Given the description of an element on the screen output the (x, y) to click on. 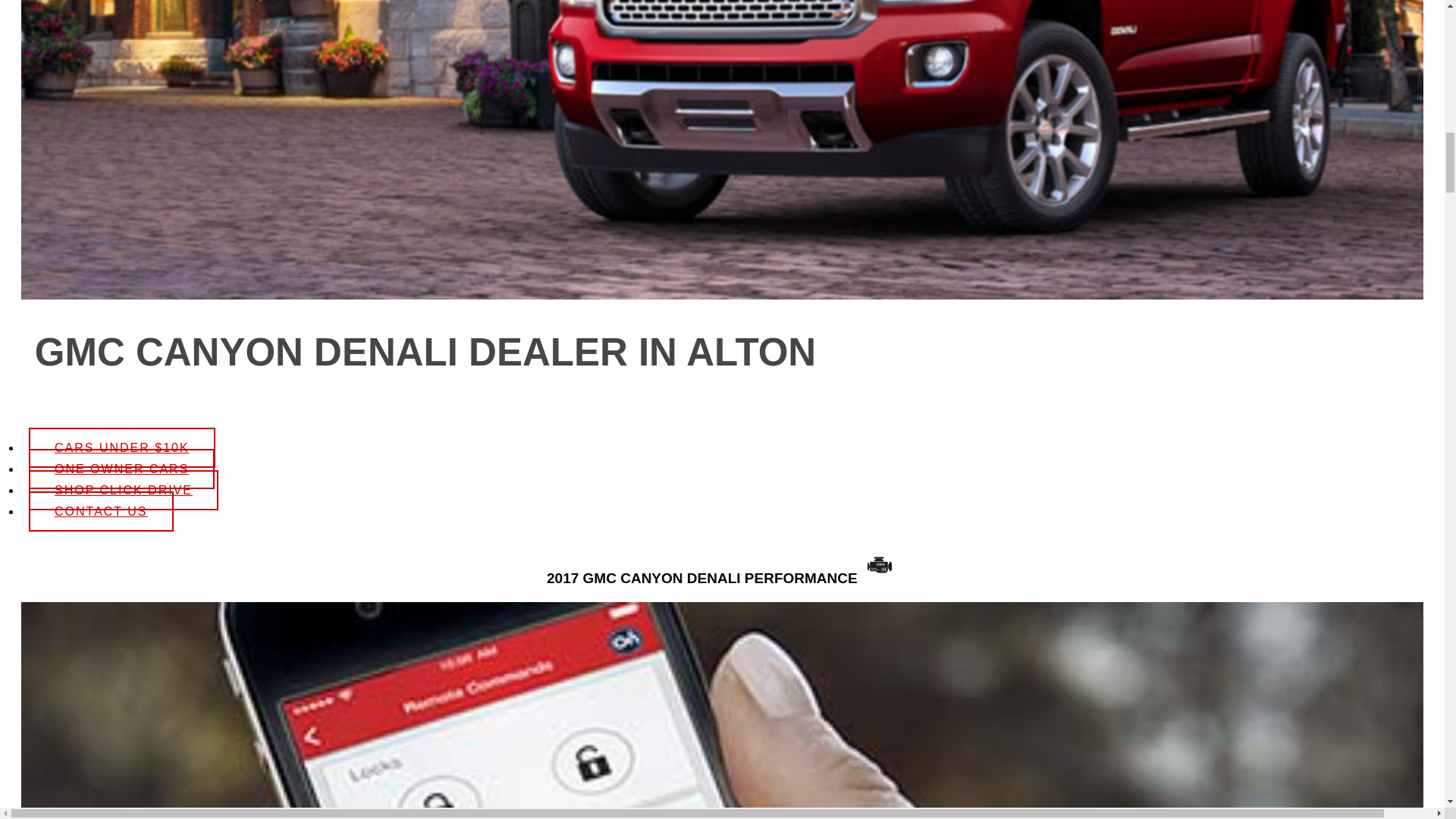
2024 HUMMER EV SUV (149, 154)
2024 TERRAIN DENALI (149, 31)
2024 YUKON (149, 330)
2024 CANYON (149, 796)
2024 YUKON AT4 (149, 506)
2024 YUKON DENALI (149, 681)
